Given the description of an element on the screen output the (x, y) to click on. 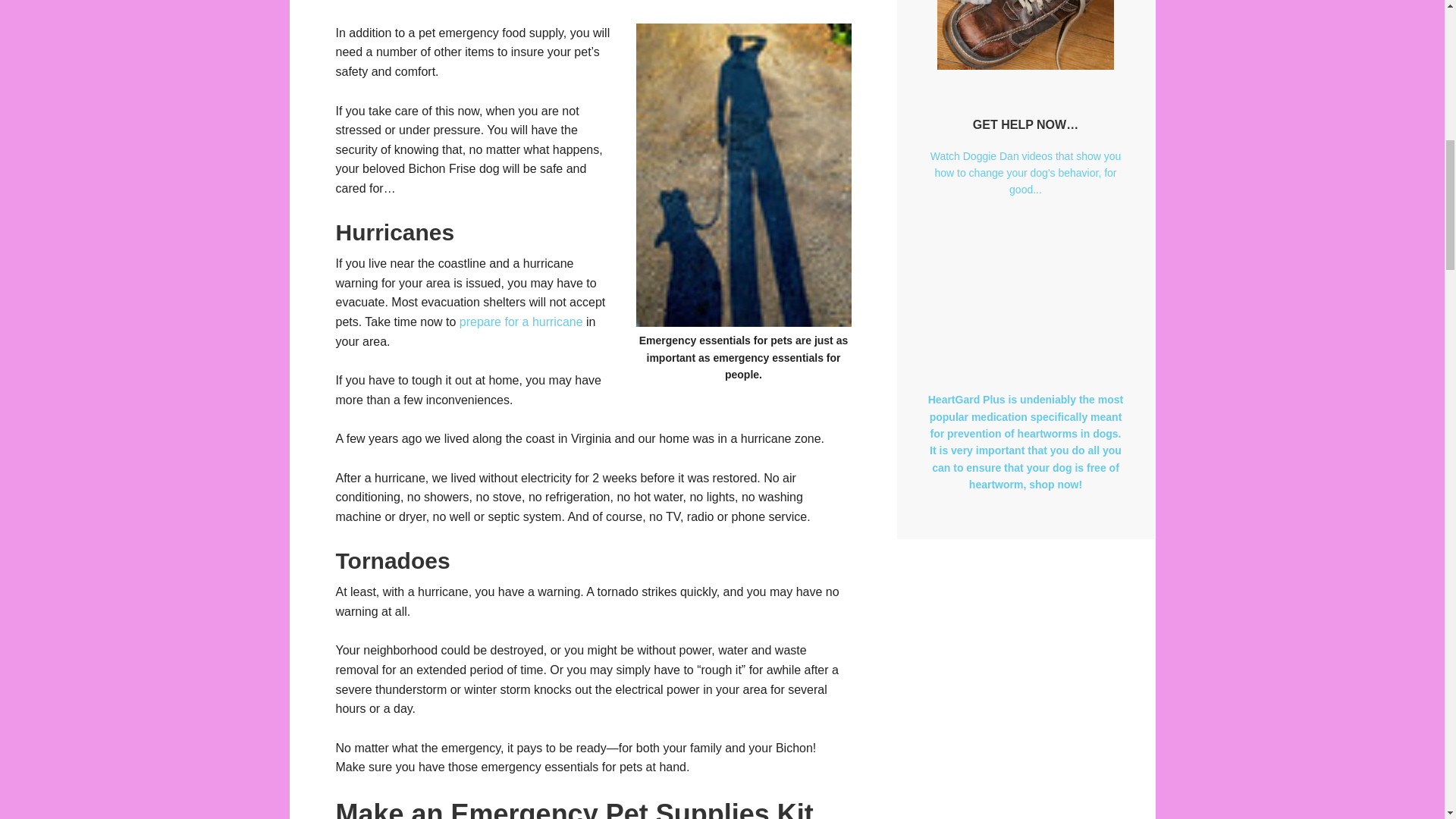
Need Help with Bichon Training? (1025, 34)
prepare for a hurricane (521, 321)
